Given the description of an element on the screen output the (x, y) to click on. 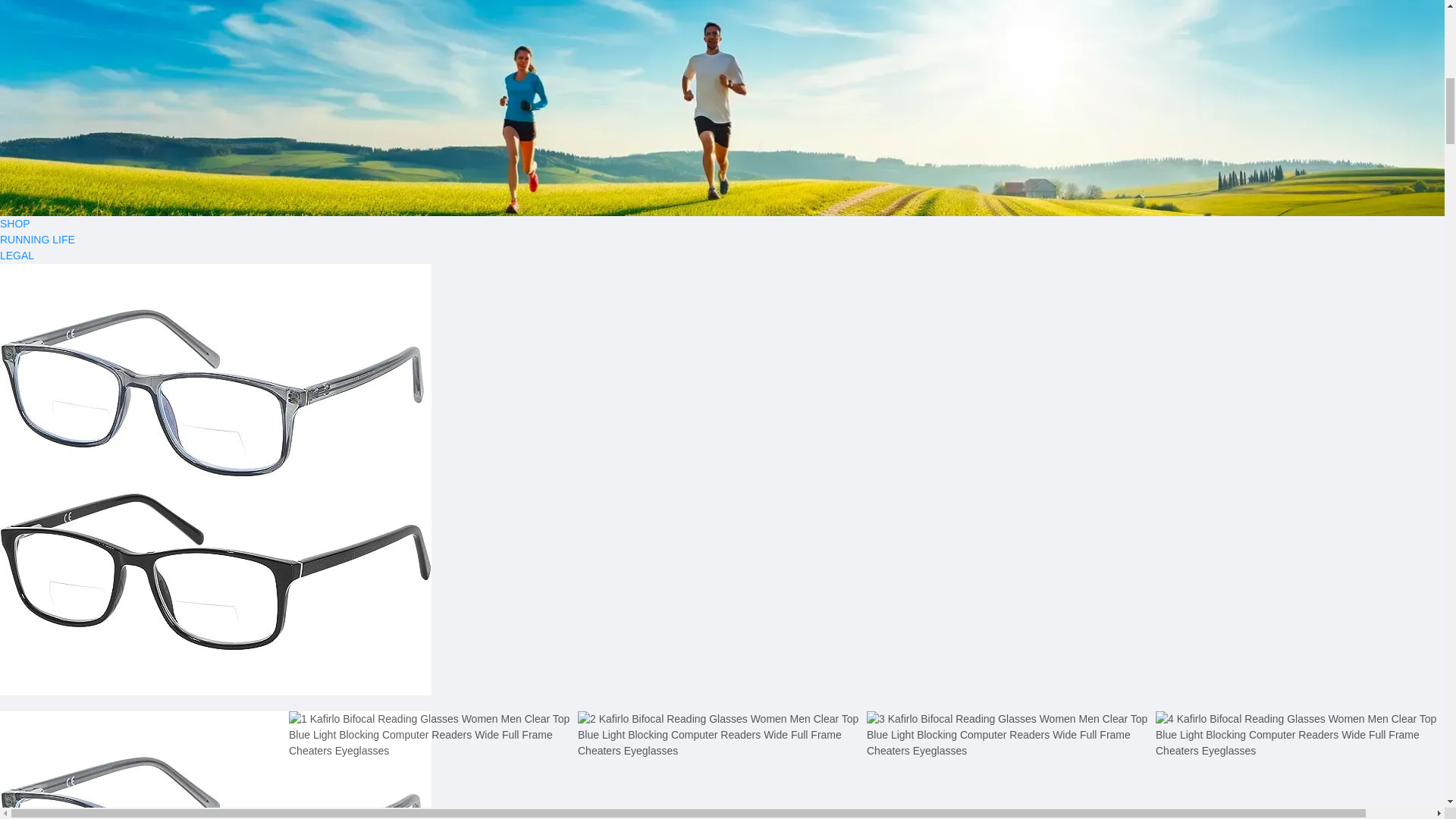
RUNNING LIFE (722, 239)
